Given the description of an element on the screen output the (x, y) to click on. 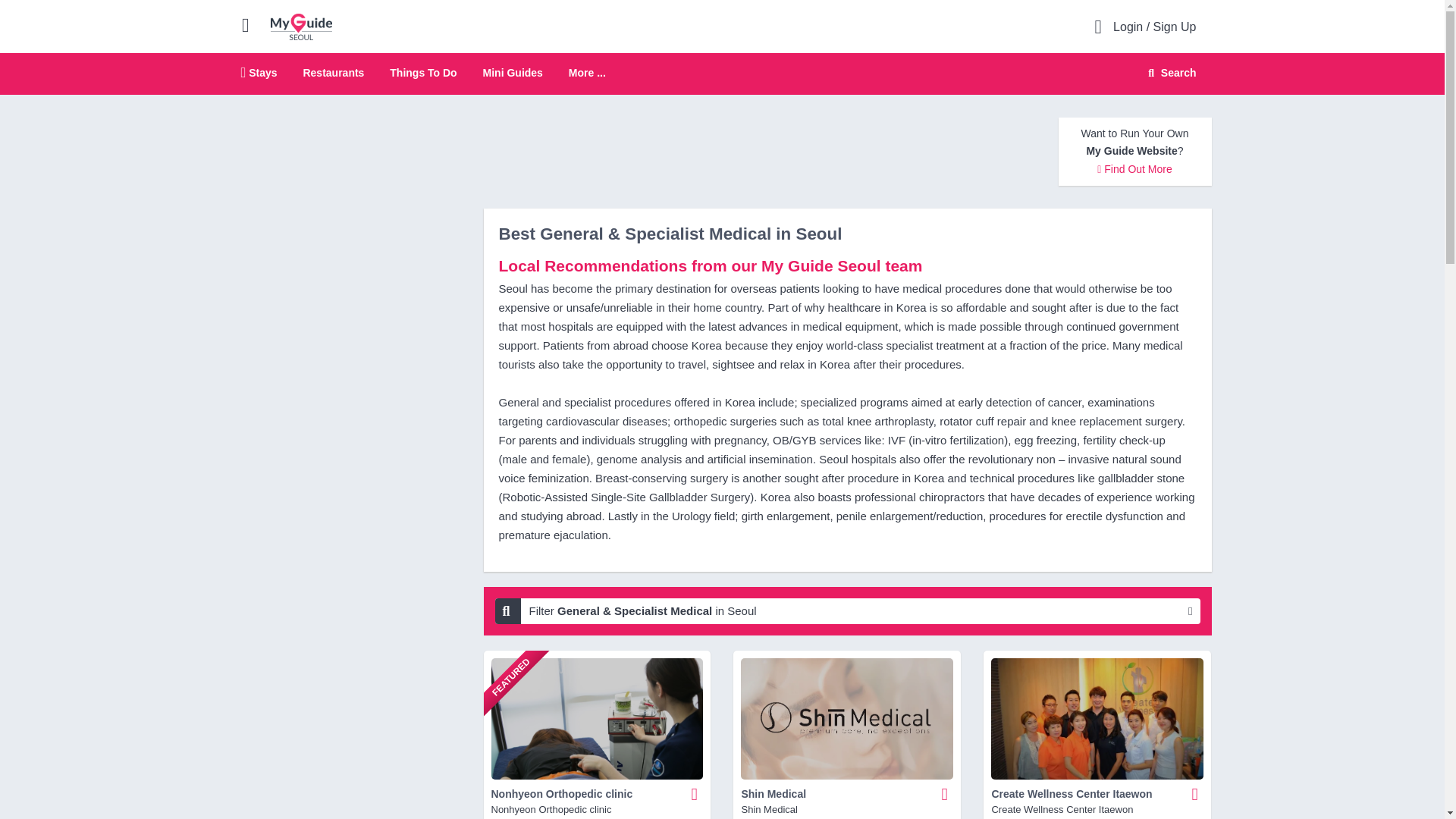
Find Out More (1134, 168)
More ... (587, 72)
Mini Guides (721, 74)
Restaurants (513, 72)
Things To Do (333, 72)
My Guide Seoul (423, 72)
Search (300, 25)
Stays (1169, 72)
